Given the description of an element on the screen output the (x, y) to click on. 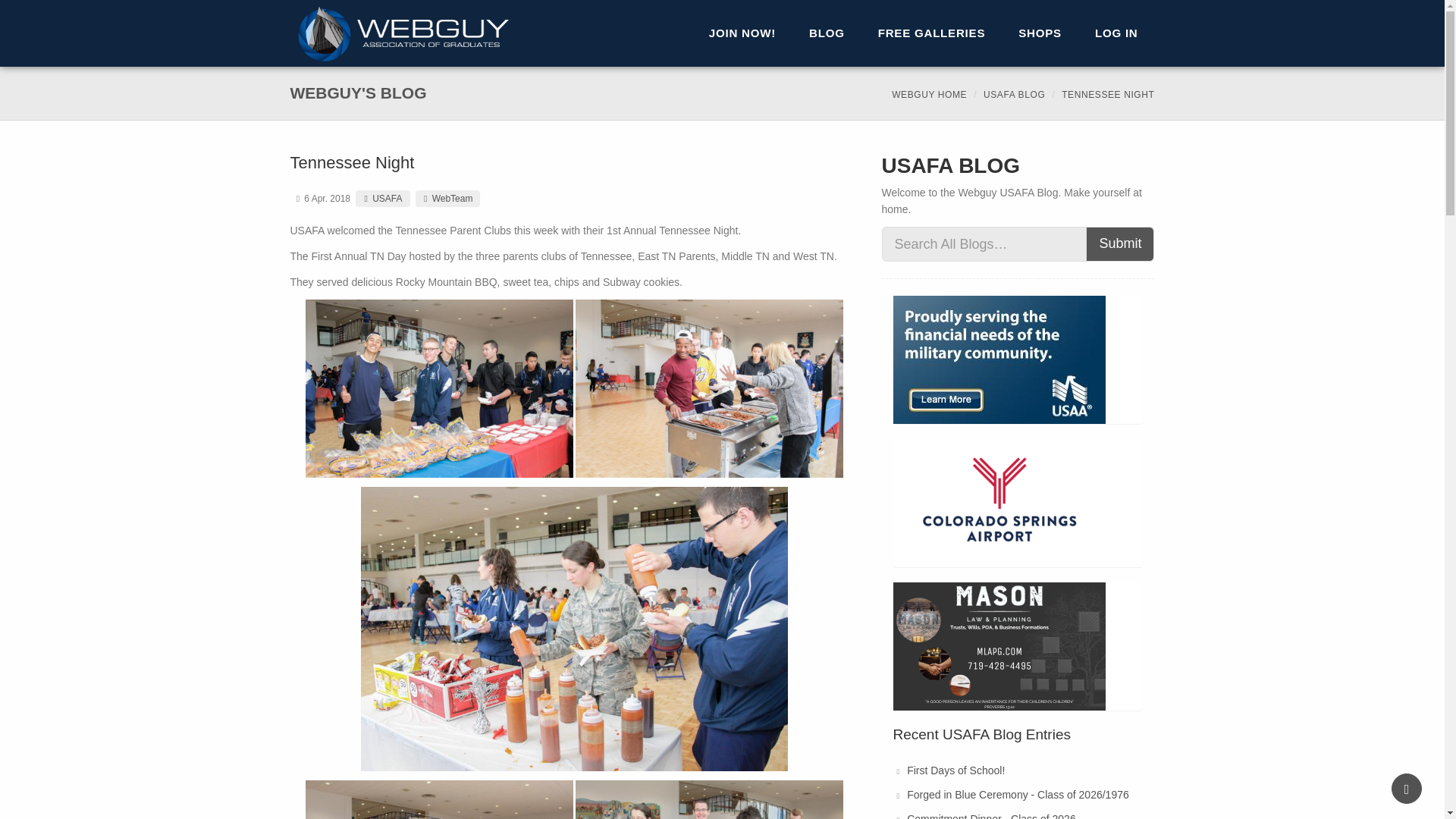
WebTeam (447, 198)
JOIN NOW! (742, 33)
SHOPS (1039, 33)
BLOG (826, 33)
LOG IN (1116, 33)
USAFA BLOG (1014, 94)
FREE GALLERIES (932, 33)
USAFA (382, 198)
Commitment Dinner - Class of 2026 (991, 816)
